Given the description of an element on the screen output the (x, y) to click on. 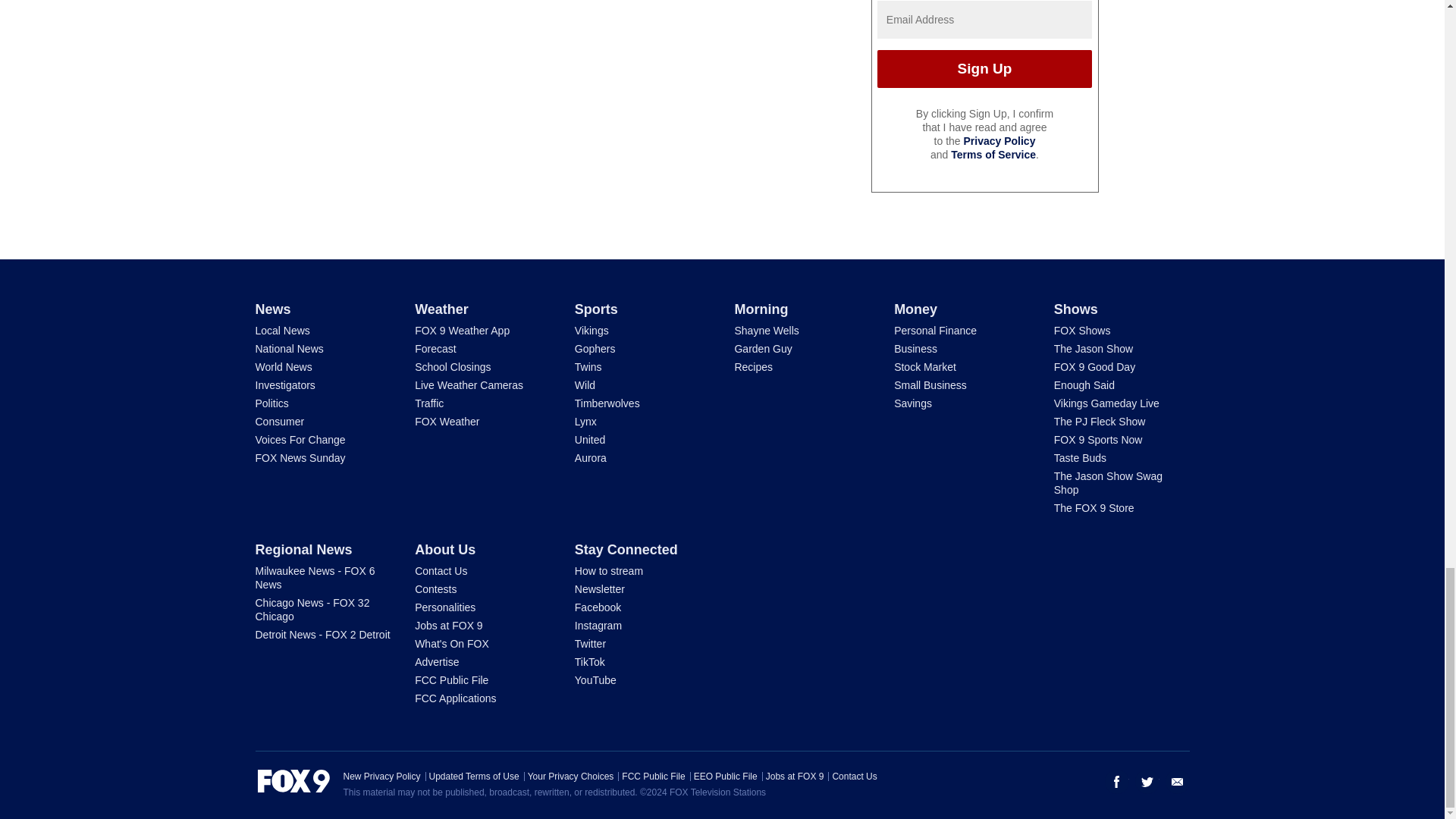
Sign Up (984, 68)
